Given the description of an element on the screen output the (x, y) to click on. 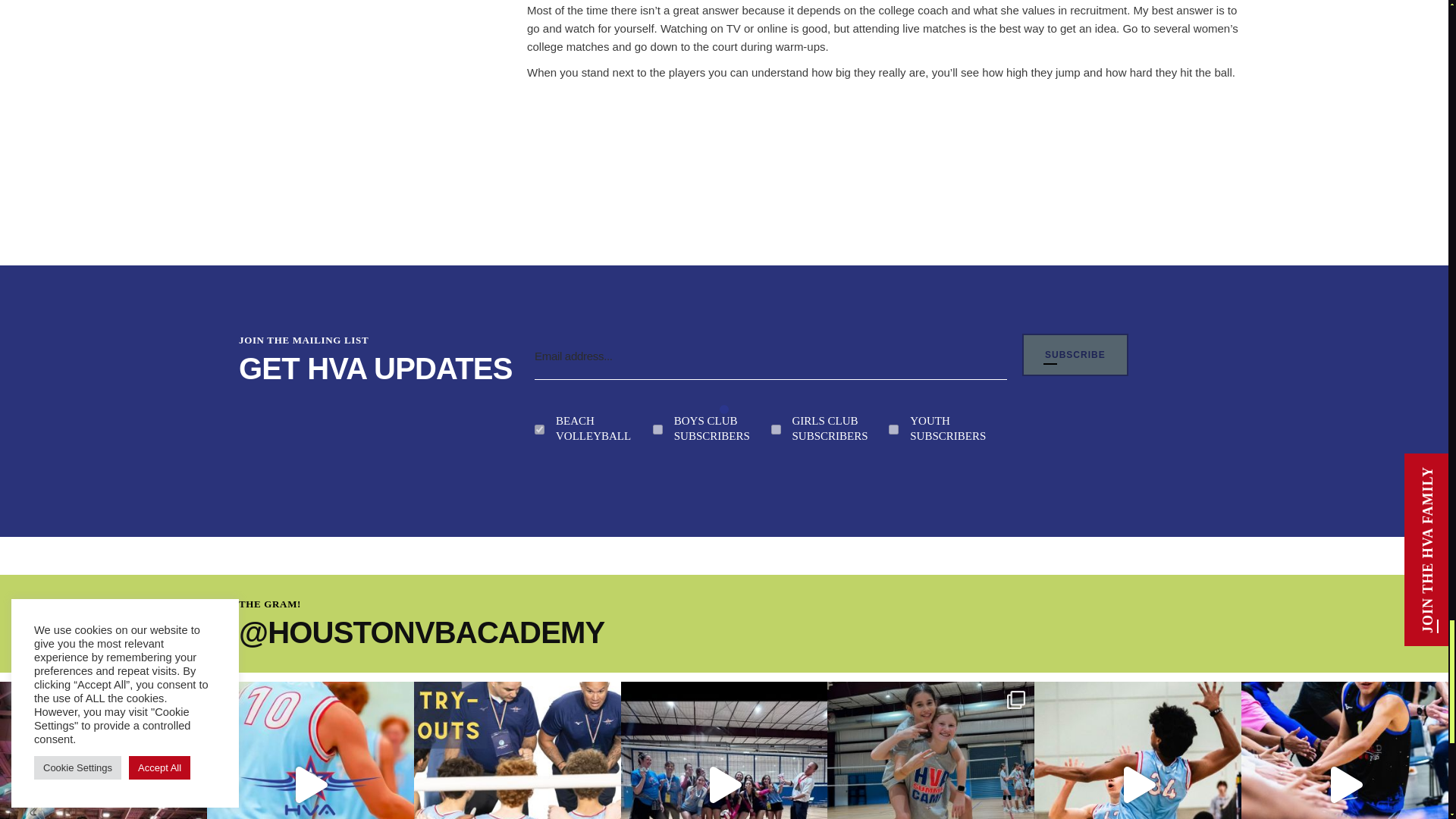
Subscribe (1075, 354)
2083568388 (775, 429)
1207838176 (657, 429)
1062385406 (893, 429)
1858503774 (539, 429)
